Given the description of an element on the screen output the (x, y) to click on. 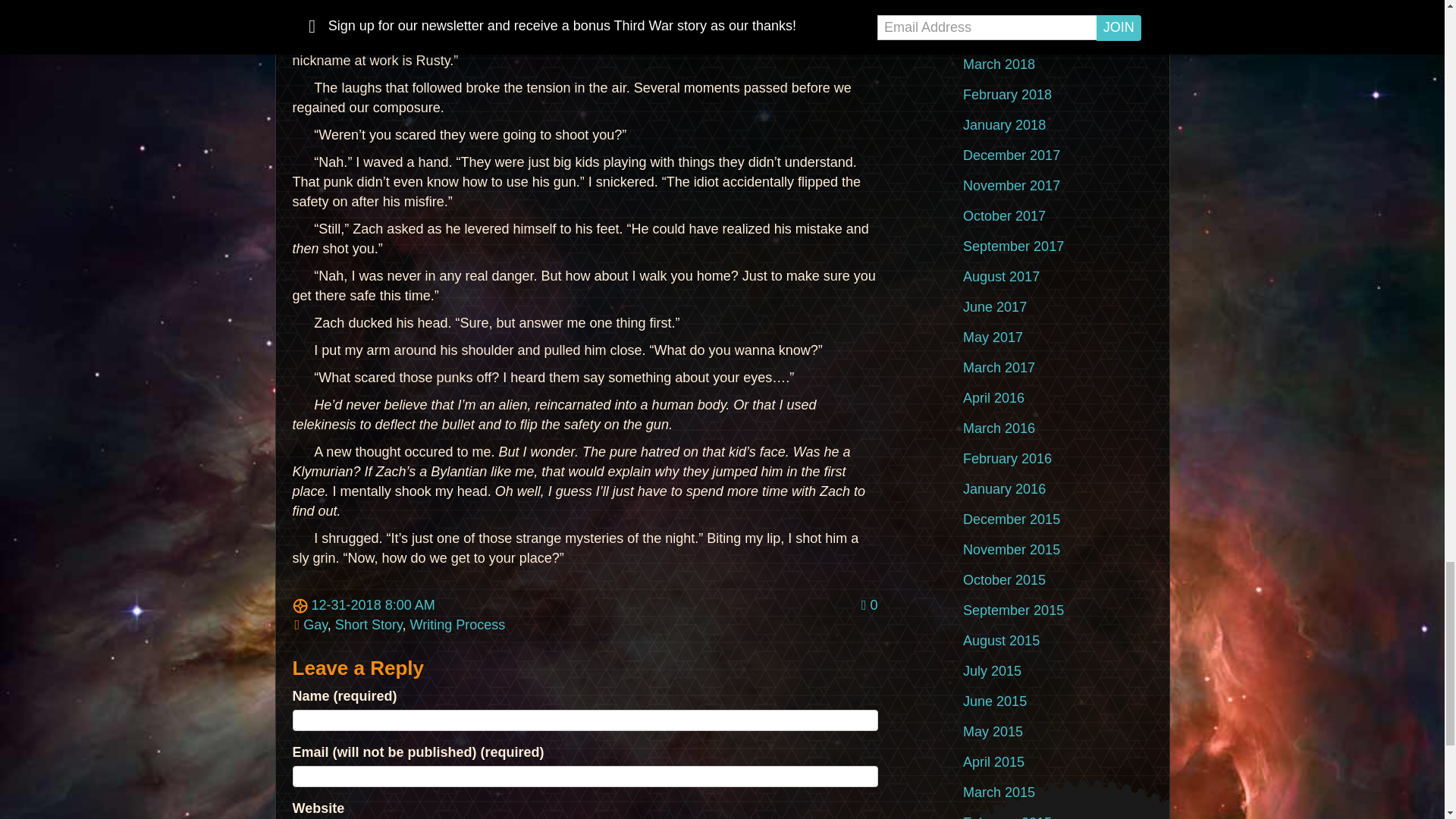
0 (869, 604)
Short Story (368, 624)
Gay (314, 624)
12-31-2018 8:00 AM (363, 605)
Writing Process (457, 624)
